Given the description of an element on the screen output the (x, y) to click on. 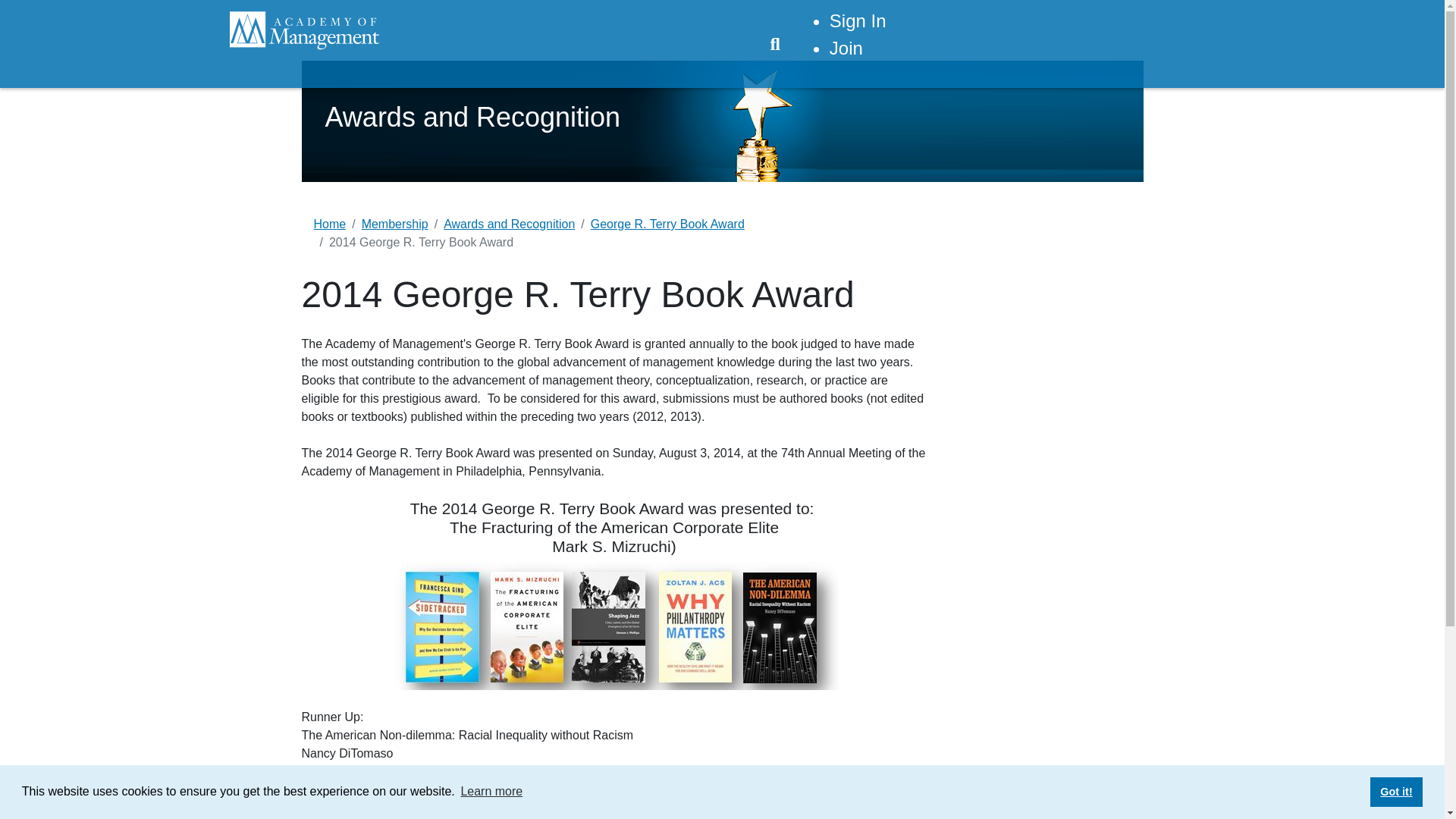
Sign In (857, 20)
Learn more (491, 791)
Join (846, 47)
Academy of Management (304, 30)
Got it! (1396, 791)
